Given the description of an element on the screen output the (x, y) to click on. 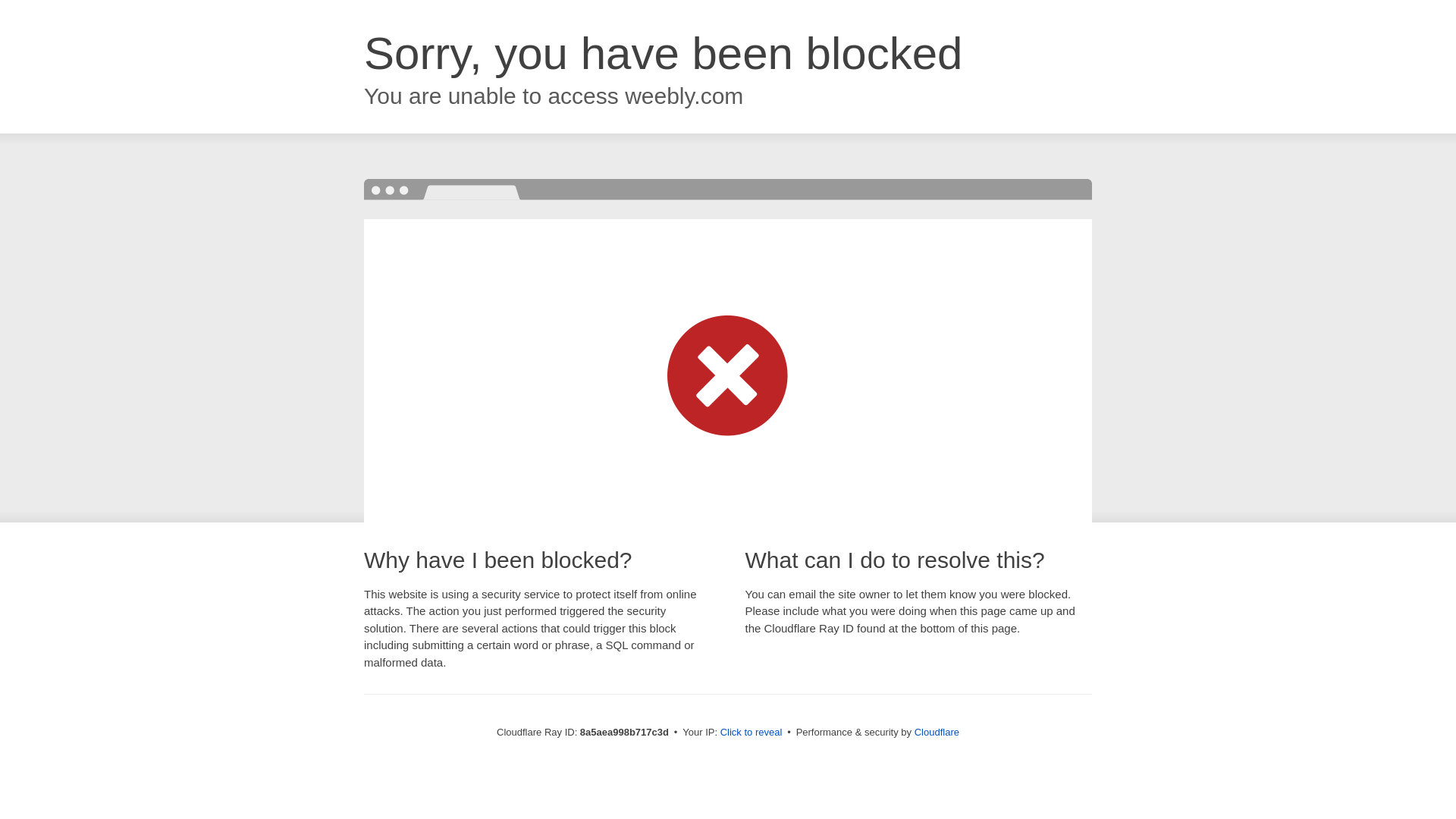
Click to reveal (751, 732)
Cloudflare (936, 731)
